Given the description of an element on the screen output the (x, y) to click on. 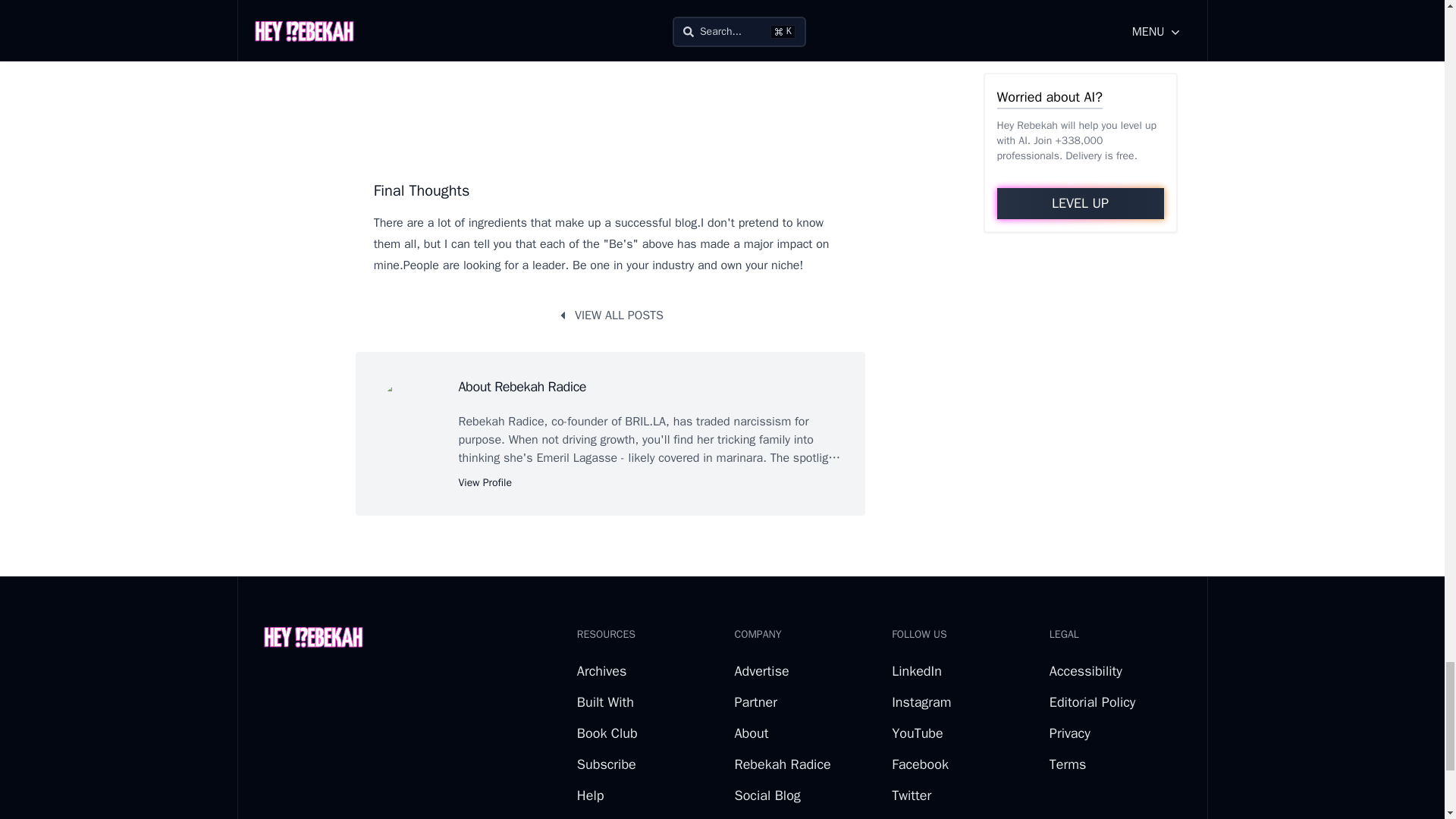
Instagram (920, 701)
Help (590, 795)
YouTube (917, 733)
Accessibility (1085, 670)
Rebekah Radice (781, 764)
LinkedIn (916, 670)
BRIL.LA (644, 421)
Partner (754, 701)
Twitter (911, 795)
Advertise (761, 670)
Social Blog (766, 795)
Built With (604, 701)
Pinterest (917, 818)
Subscribe (606, 764)
Book Club (606, 733)
